Given the description of an element on the screen output the (x, y) to click on. 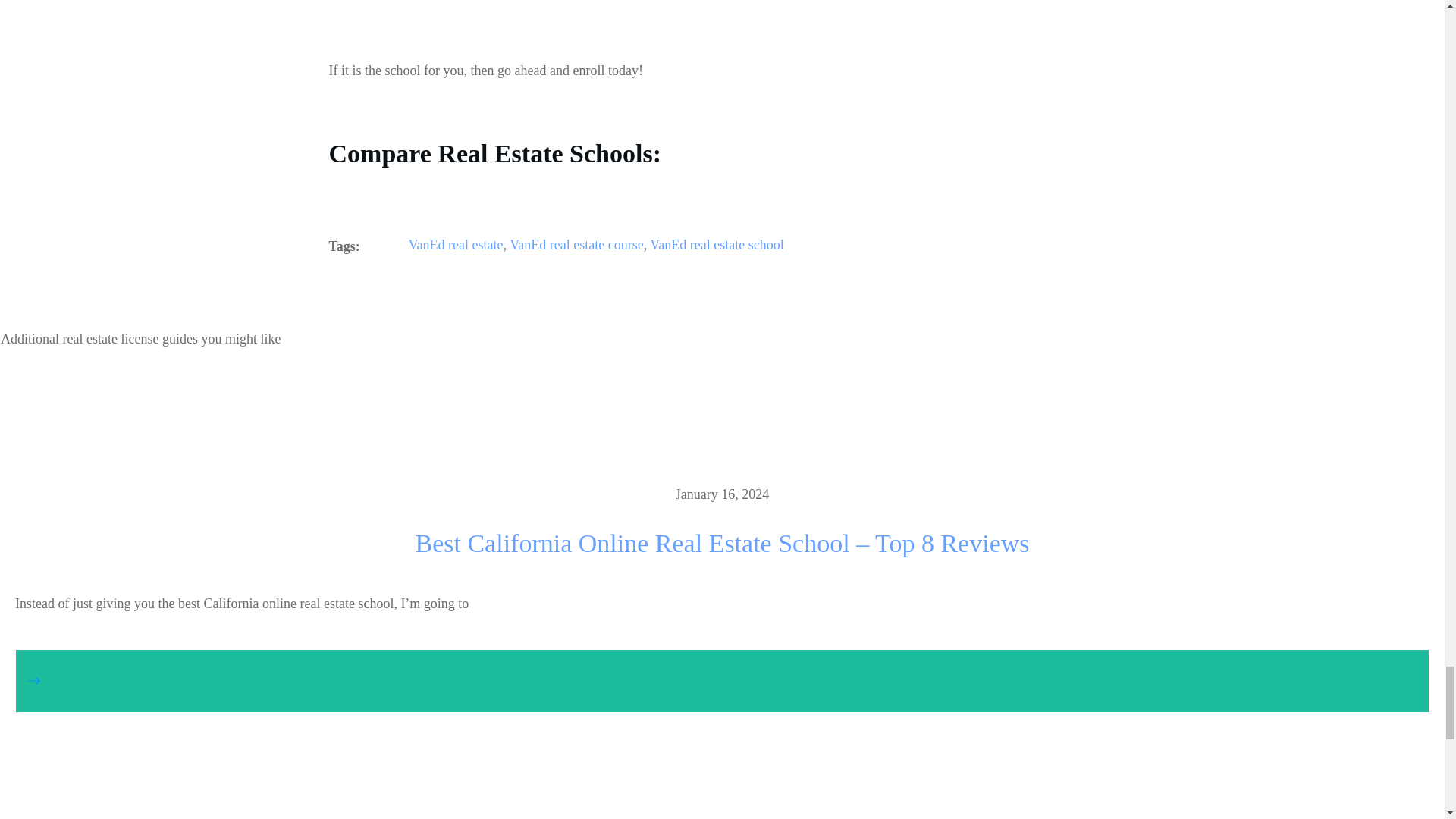
VanEd real estate course (576, 244)
VanEd real estate (456, 244)
VanEd real estate (456, 244)
VanEd real estate school (716, 244)
VanEd real estate course (576, 244)
VanEd real estate school (716, 244)
